Given the description of an element on the screen output the (x, y) to click on. 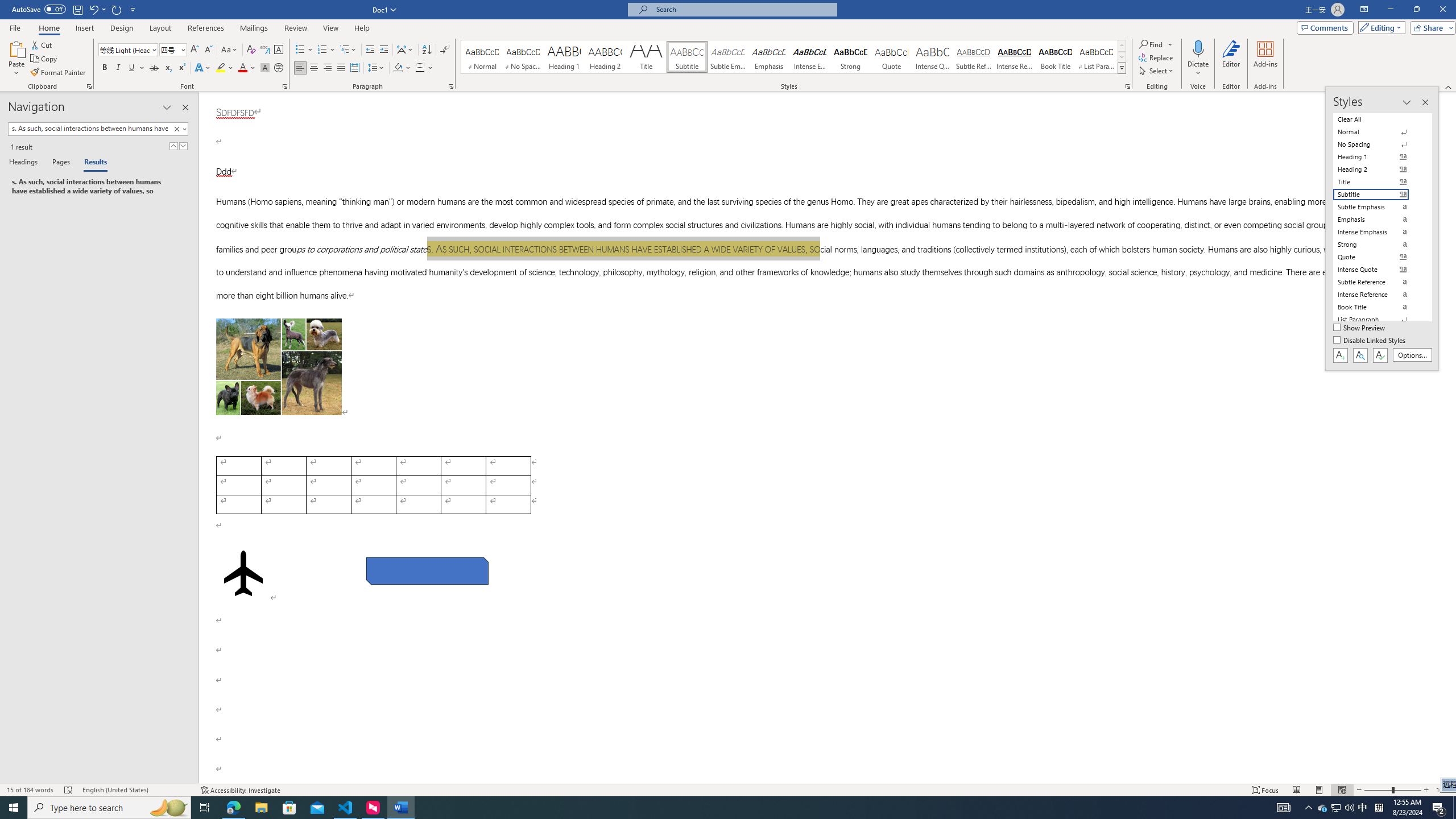
Insert (83, 28)
Borders (424, 67)
Find (1155, 44)
Distributed (354, 67)
Sort... (426, 49)
Ribbon Display Options (1364, 9)
Mailings (253, 28)
File Tab (15, 27)
Shading (402, 67)
Zoom (1392, 790)
Result 1 of 1 (94, 186)
Book Title (1055, 56)
Normal (1377, 131)
Row Down (1121, 56)
